Given the description of an element on the screen output the (x, y) to click on. 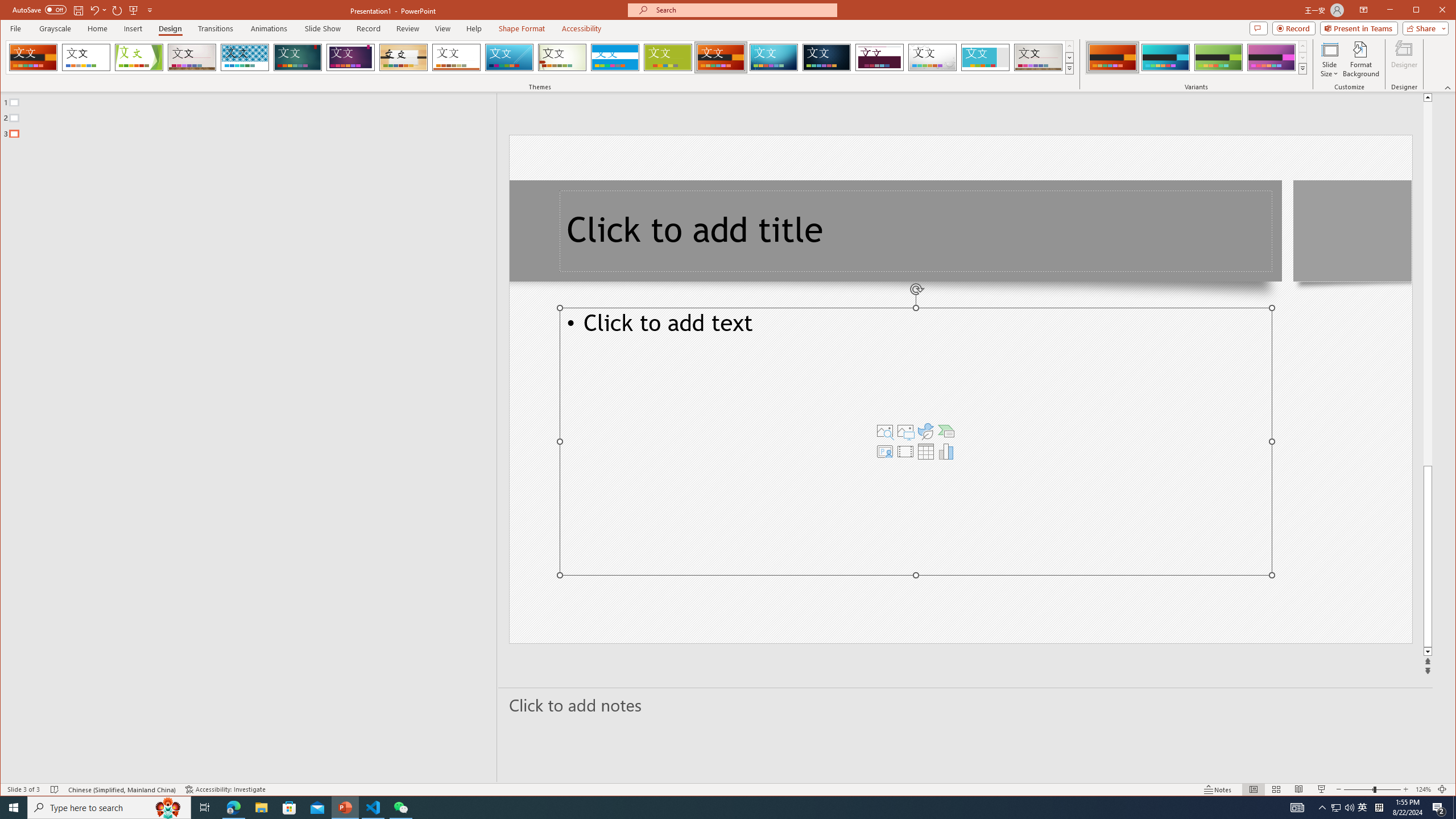
Insert Video (905, 451)
AutomationID: ThemeVariantsGallery (1196, 57)
Slice (509, 57)
Insert an Icon (925, 430)
AutomationID: SlideThemesGallery (540, 57)
Dividend (879, 57)
Stock Images (884, 430)
Office Theme (85, 57)
Basis (668, 57)
